Given the description of an element on the screen output the (x, y) to click on. 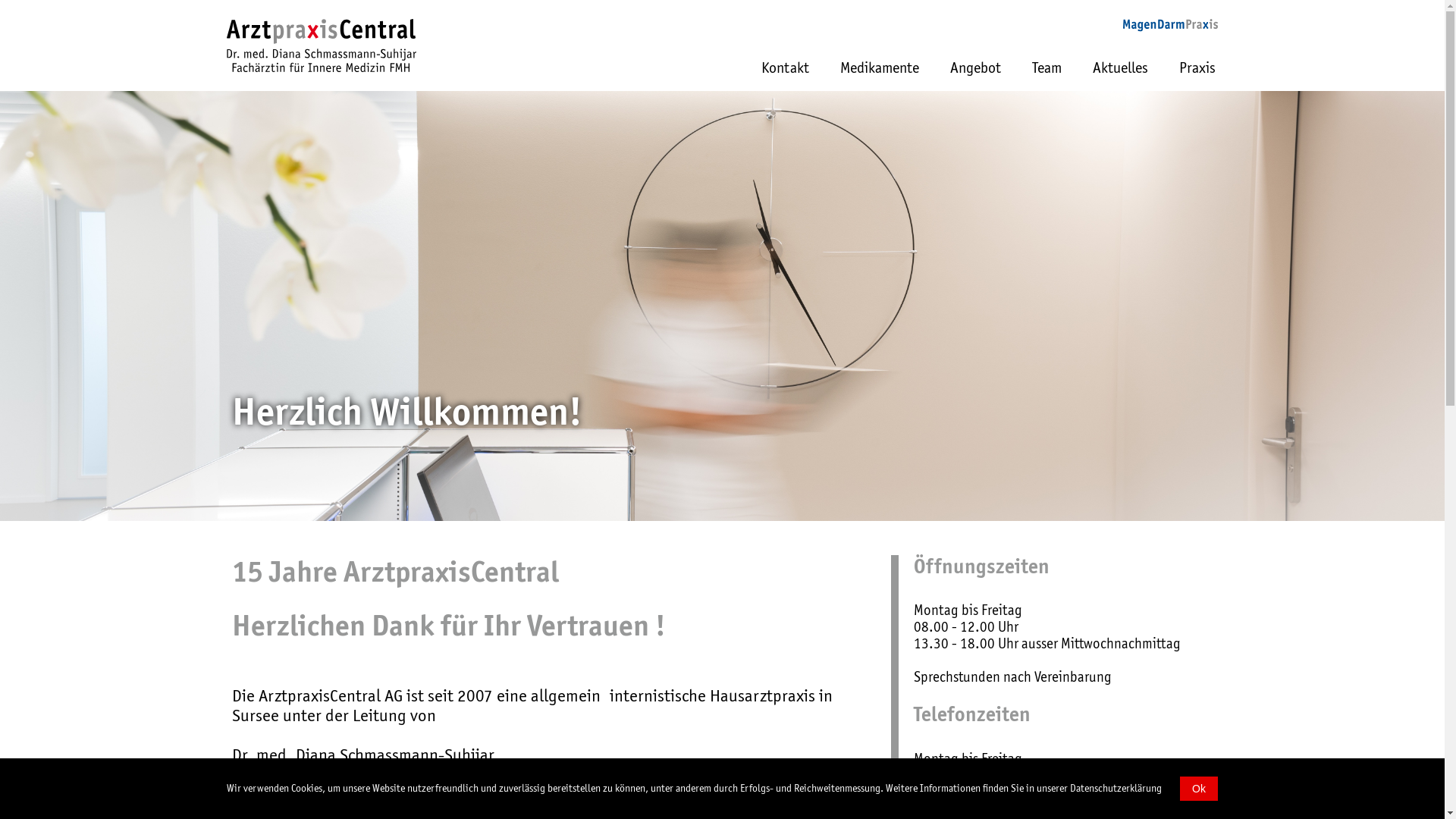
Praxis Element type: text (1197, 75)
Team Element type: text (1046, 75)
Aktuelles Element type: text (1120, 75)
Medikamente Element type: text (879, 75)
Angebot Element type: text (975, 75)
Ok Element type: text (1198, 788)
Kontakt Element type: text (785, 75)
